Given the description of an element on the screen output the (x, y) to click on. 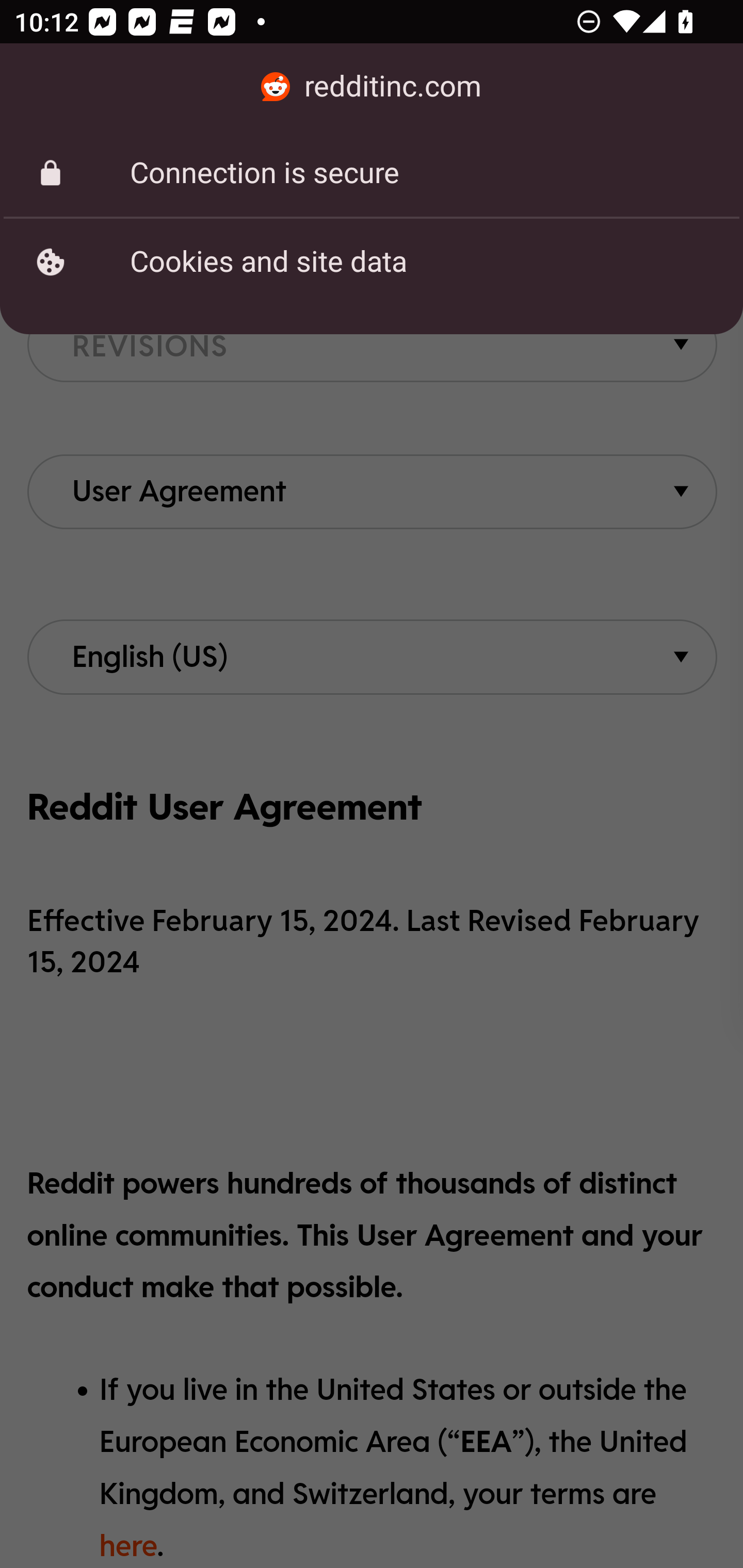
redditinc.com (371, 86)
Connection is secure (371, 173)
Cookies and site data (371, 261)
